Given the description of an element on the screen output the (x, y) to click on. 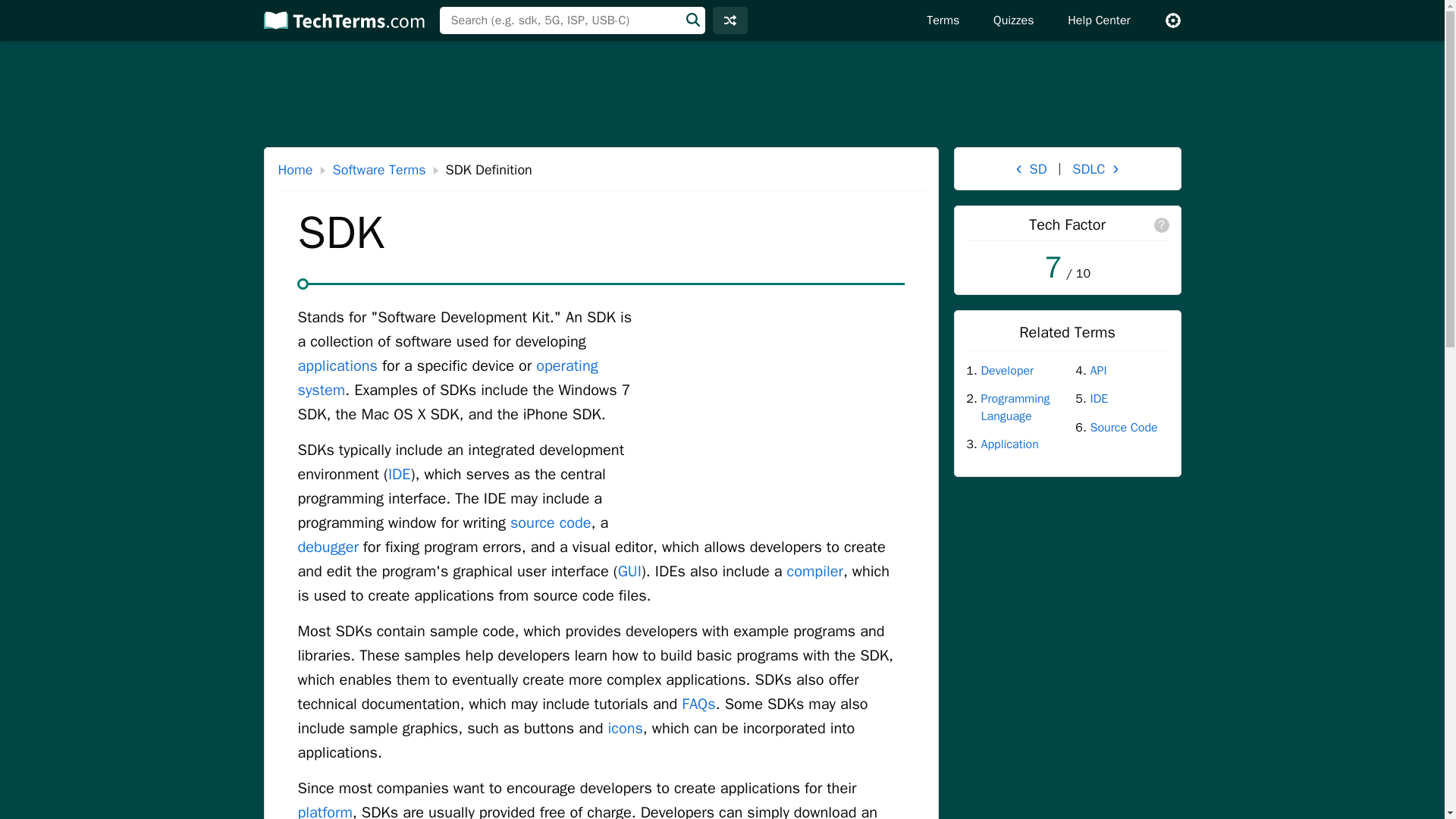
Software Terms (379, 169)
compiler (815, 570)
operating system (446, 377)
Programming Language (1020, 407)
What is the Tech Factor? (1161, 224)
applications (337, 365)
IDE (399, 474)
Help Center (1098, 20)
? (1161, 224)
icons (625, 728)
